Given the description of an element on the screen output the (x, y) to click on. 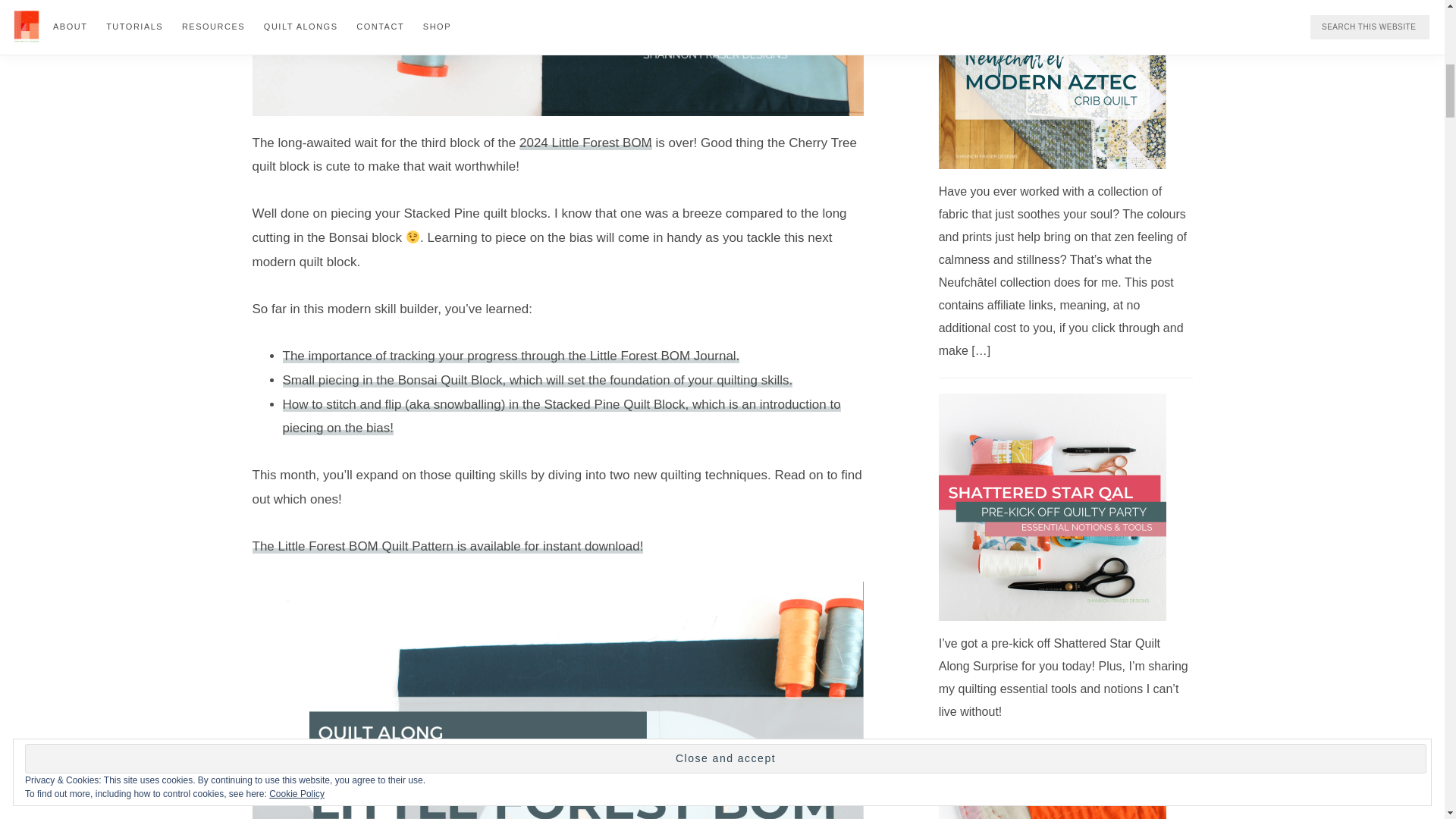
2024 Little Forest BOM (585, 142)
